Given the description of an element on the screen output the (x, y) to click on. 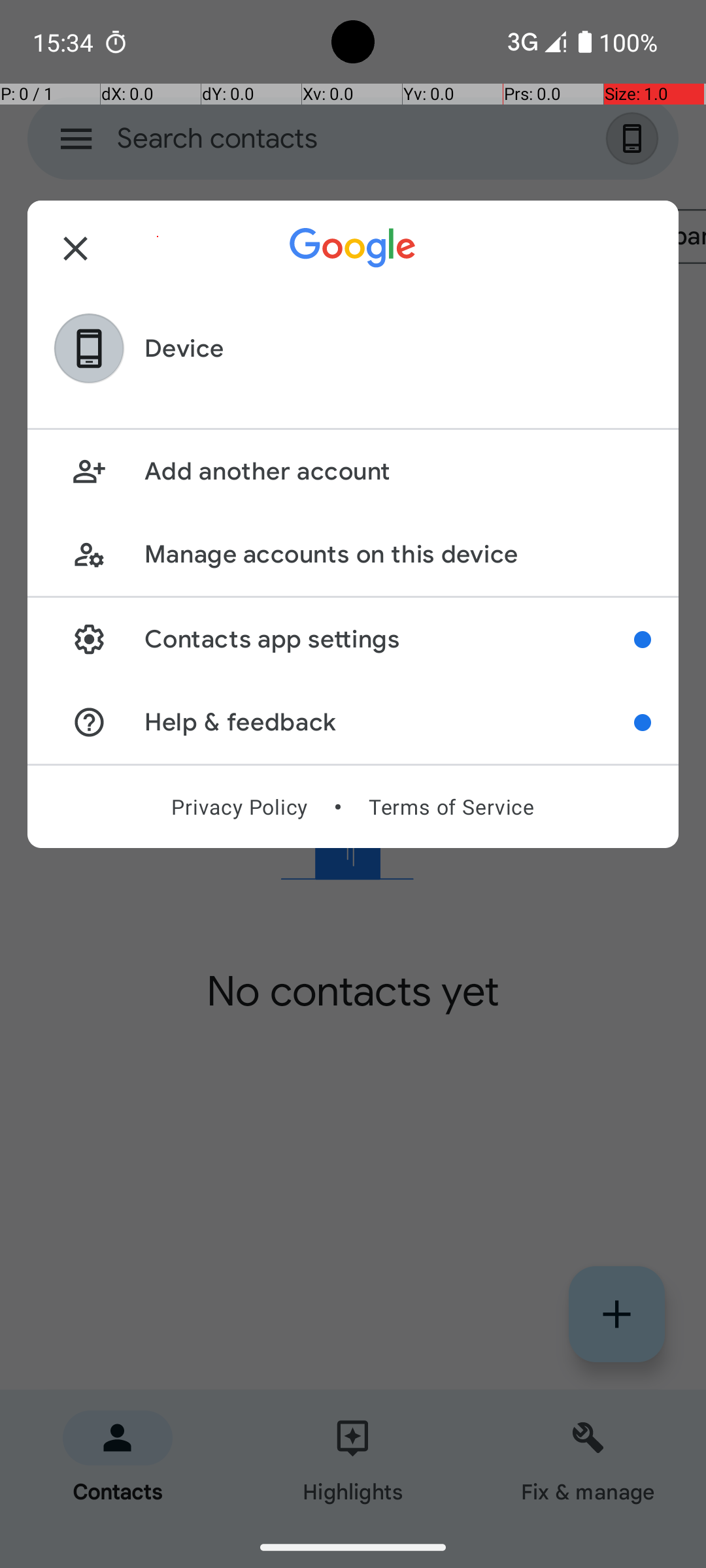
Close Element type: android.widget.ImageView (75, 248)
Privacy Policy Element type: android.widget.Button (239, 806)
Terms of Service Element type: android.widget.Button (450, 806)
Device Element type: android.widget.TextView (184, 348)
Add another account Element type: android.widget.TextView (397, 471)
Manage accounts on this device Element type: android.widget.TextView (397, 554)
Contacts app settings Element type: android.widget.TextView (389, 638)
Now you can find Settings and Help & feedback here Element type: android.widget.FrameLayout (642, 639)
Help & feedback Element type: android.widget.TextView (389, 721)
